Given the description of an element on the screen output the (x, y) to click on. 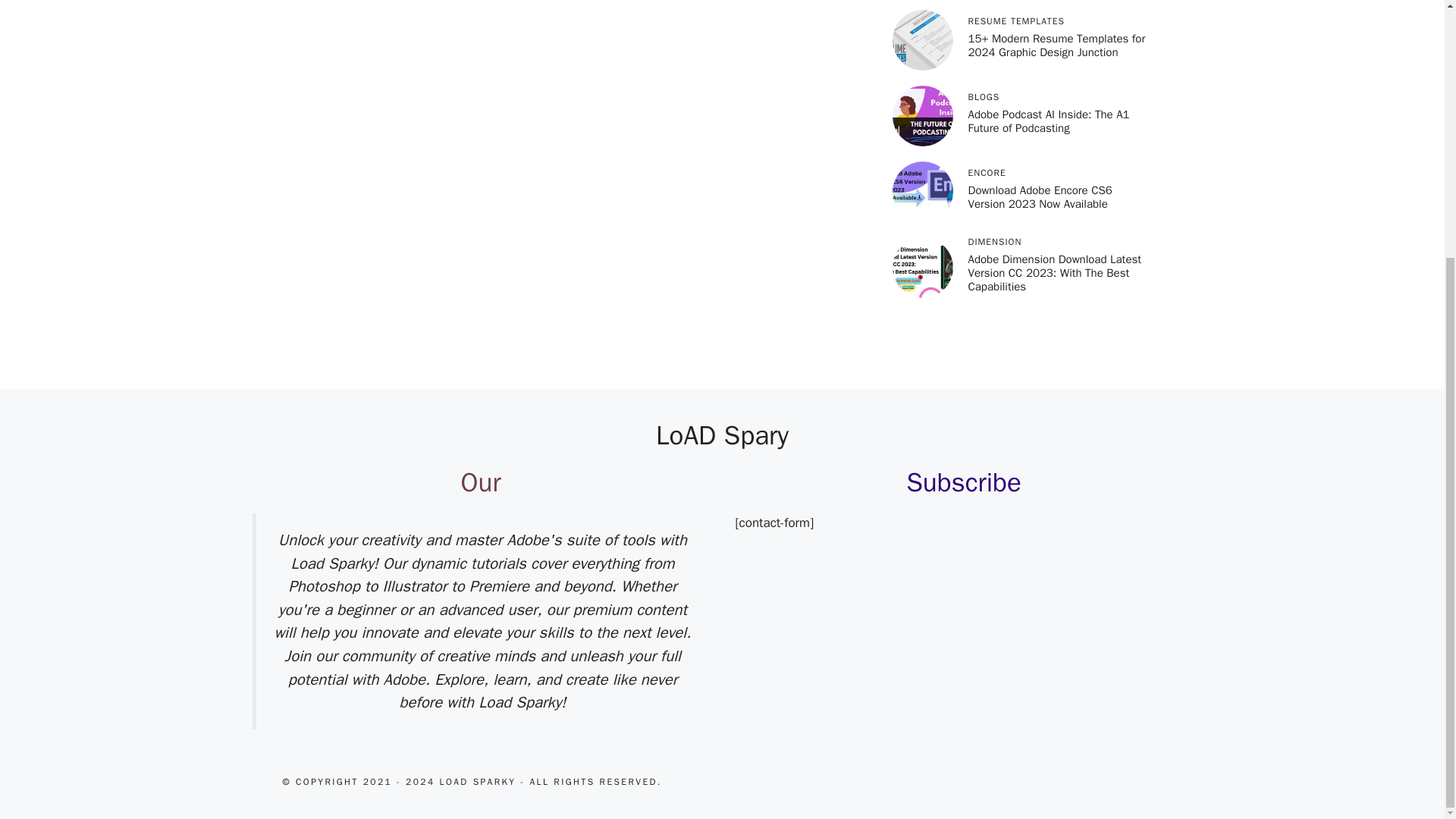
Adobe Podcast AI Inside: The A1 Future of Podcasting (1048, 121)
Download Adobe Encore CS6 Version 2023 Now Available (1040, 196)
